Given the description of an element on the screen output the (x, y) to click on. 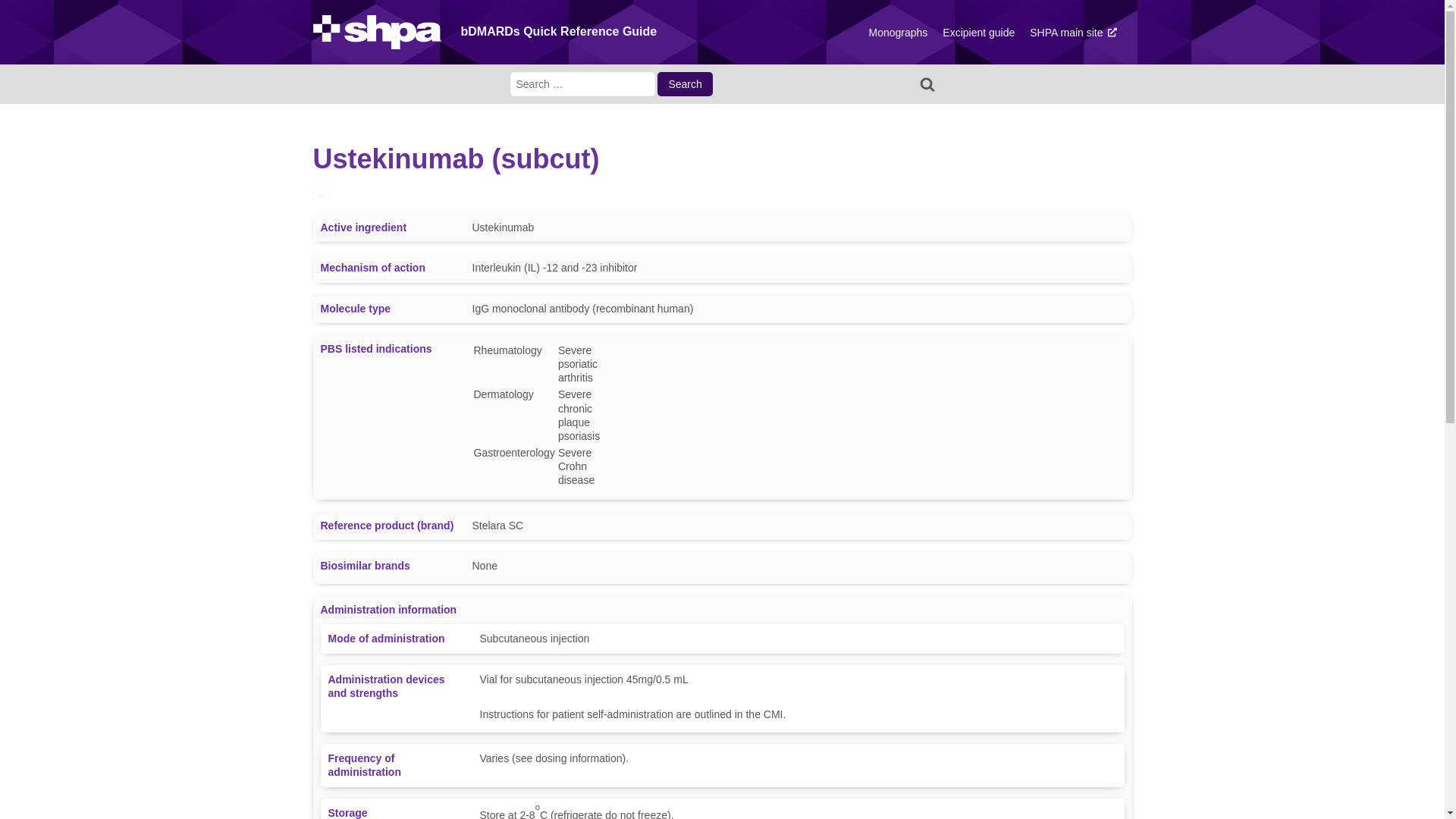
SHPA main site Element type: text (1072, 32)
Excipient guide Element type: text (978, 32)
Search Element type: text (684, 84)
Monographs Element type: text (897, 32)
